Given the description of an element on the screen output the (x, y) to click on. 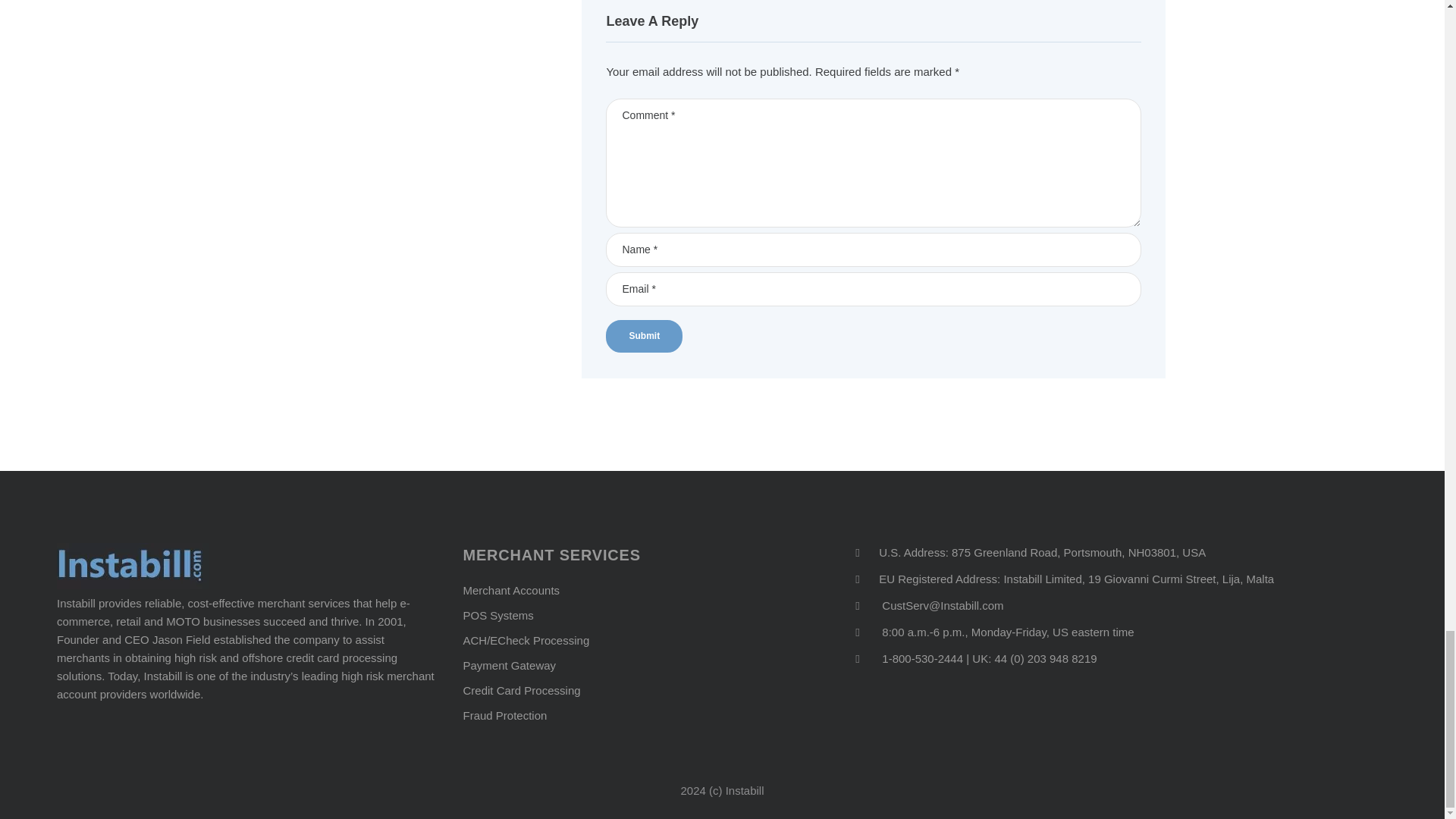
Submit (643, 336)
